Given the description of an element on the screen output the (x, y) to click on. 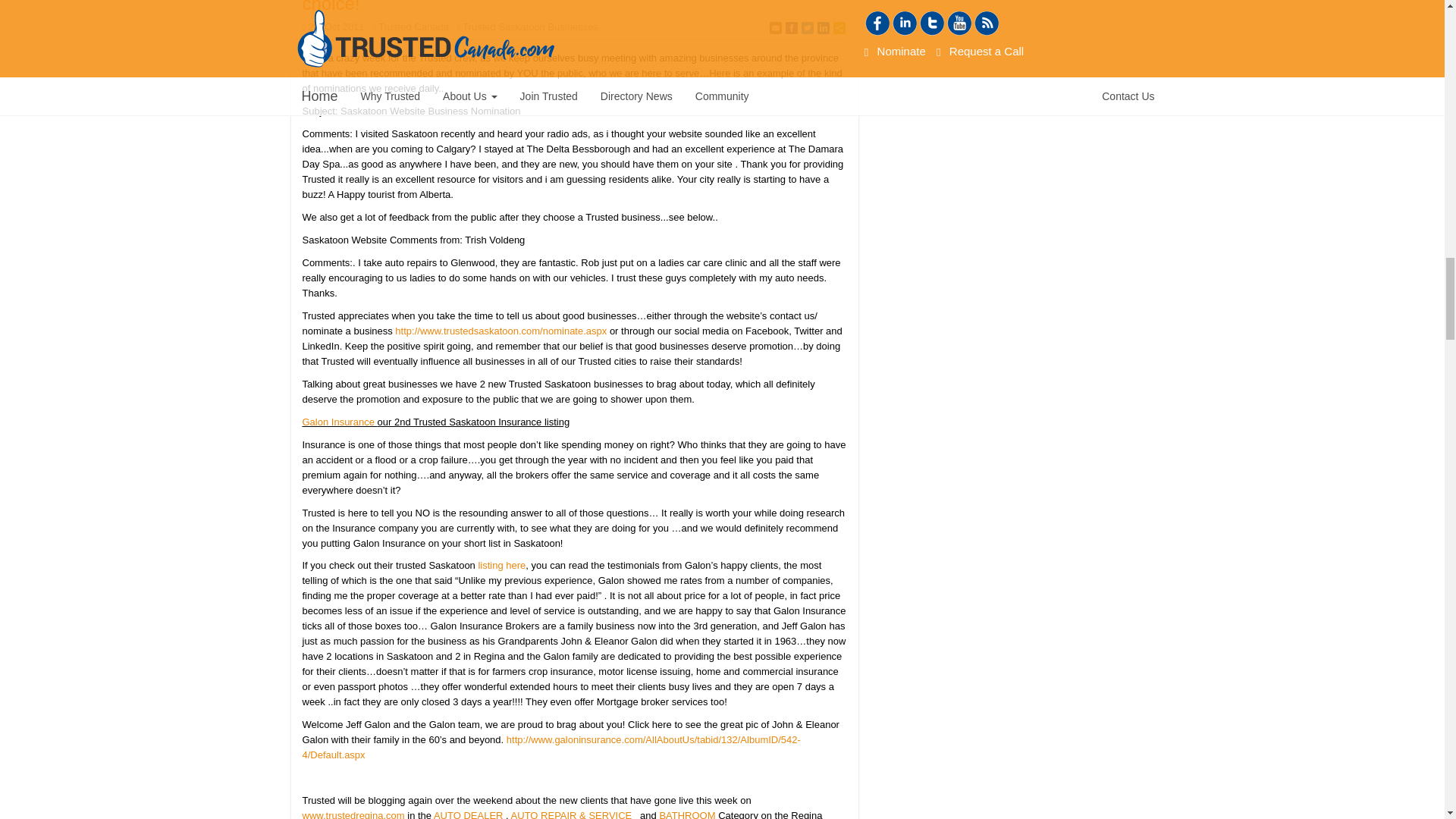
Trusted Canada (413, 26)
Trusted Saskatoon Businesses (530, 26)
